Given the description of an element on the screen output the (x, y) to click on. 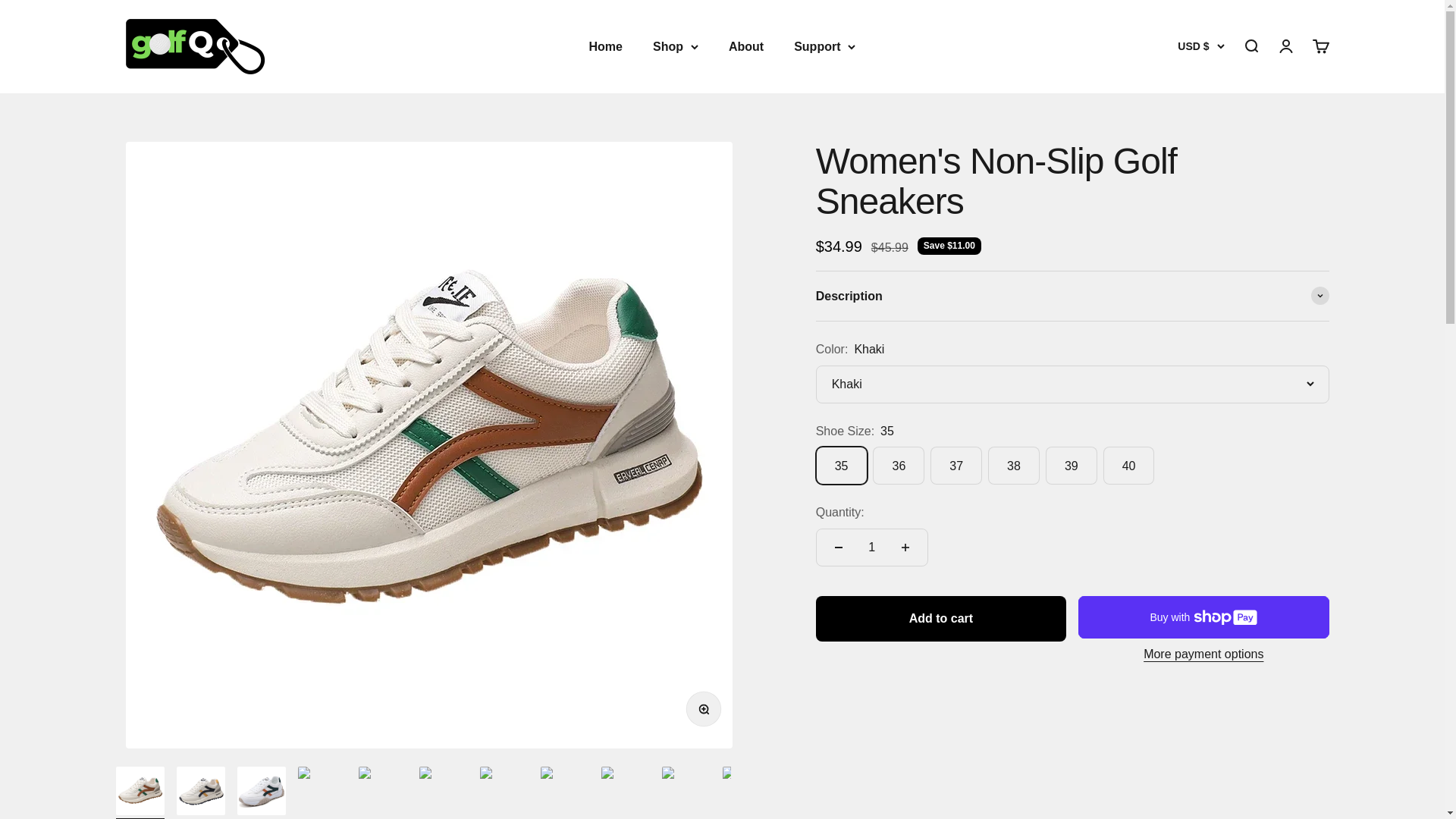
GolfQ (190, 46)
About (745, 46)
Home (604, 46)
